Given the description of an element on the screen output the (x, y) to click on. 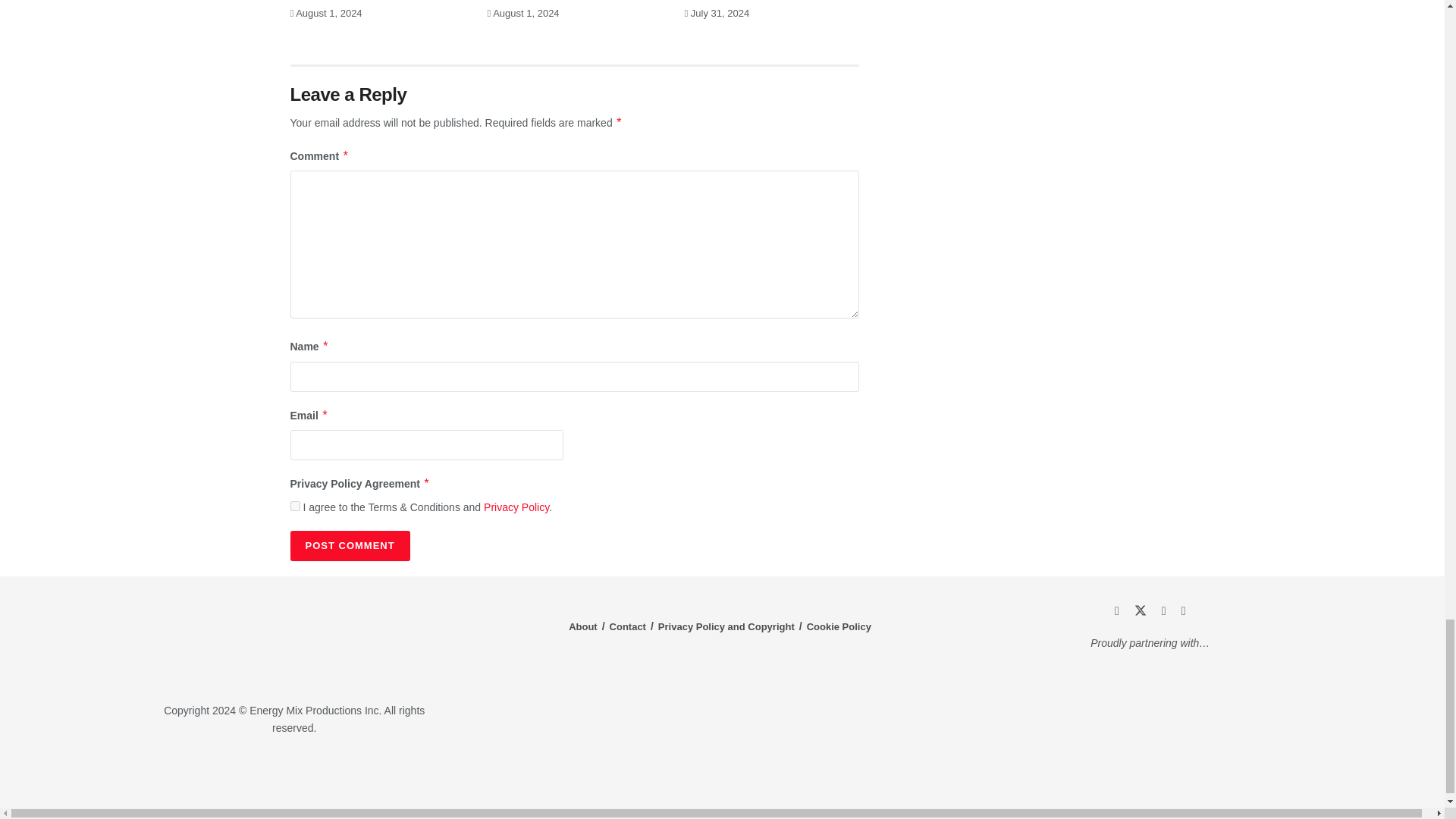
on (294, 506)
tem-logo-2024 (294, 640)
Climate-and-Capital (1221, 772)
Post Comment (349, 545)
